Given the description of an element on the screen output the (x, y) to click on. 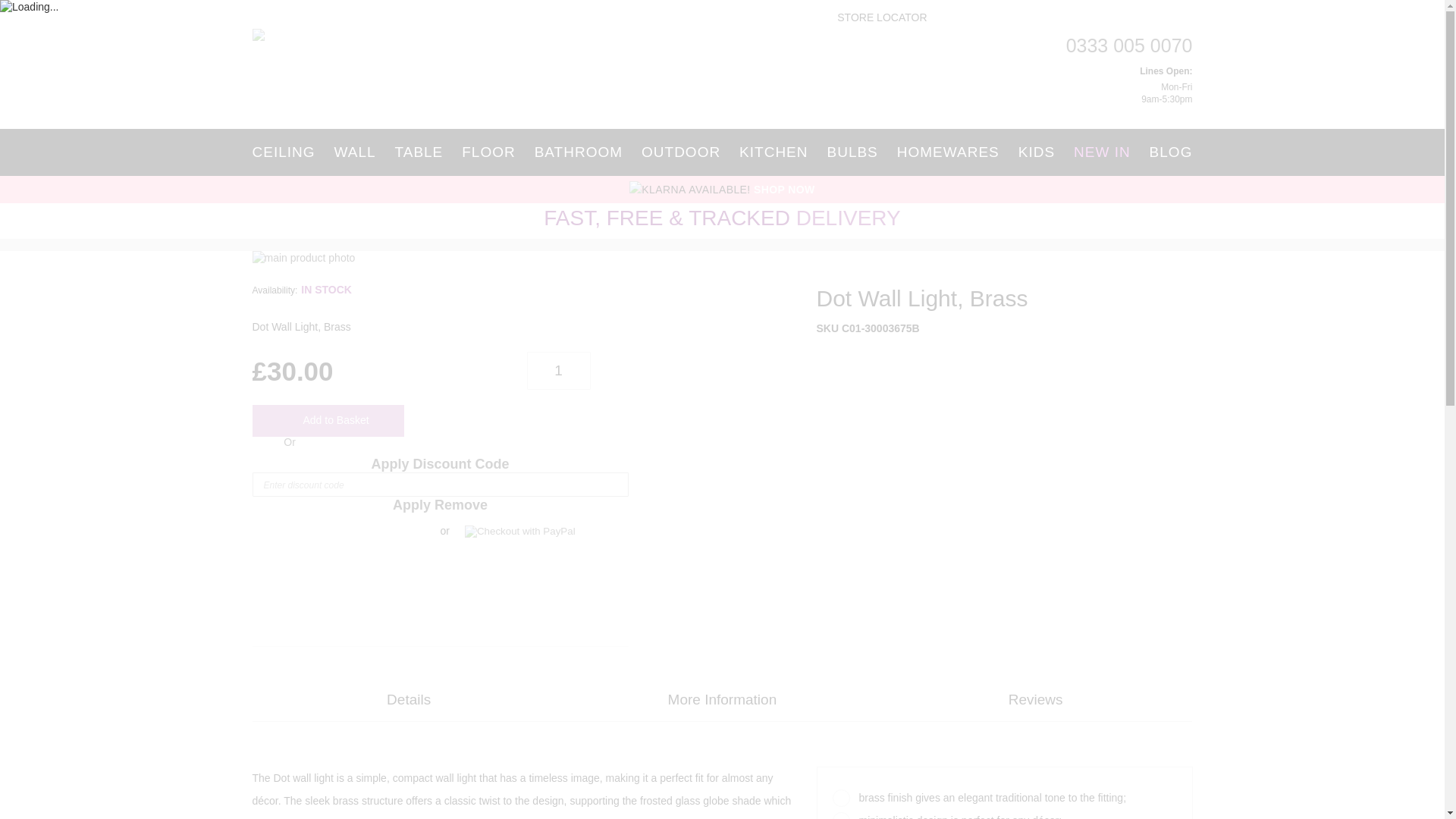
Checkout with PayPal (519, 531)
Add to Basket (327, 420)
Qty (557, 370)
1 (557, 370)
0333 005 0070 (1128, 45)
BATHROOM (578, 152)
OUTDOOR (680, 152)
STORE LOCATOR (873, 17)
CEILING (287, 152)
TABLE (418, 152)
